Given the description of an element on the screen output the (x, y) to click on. 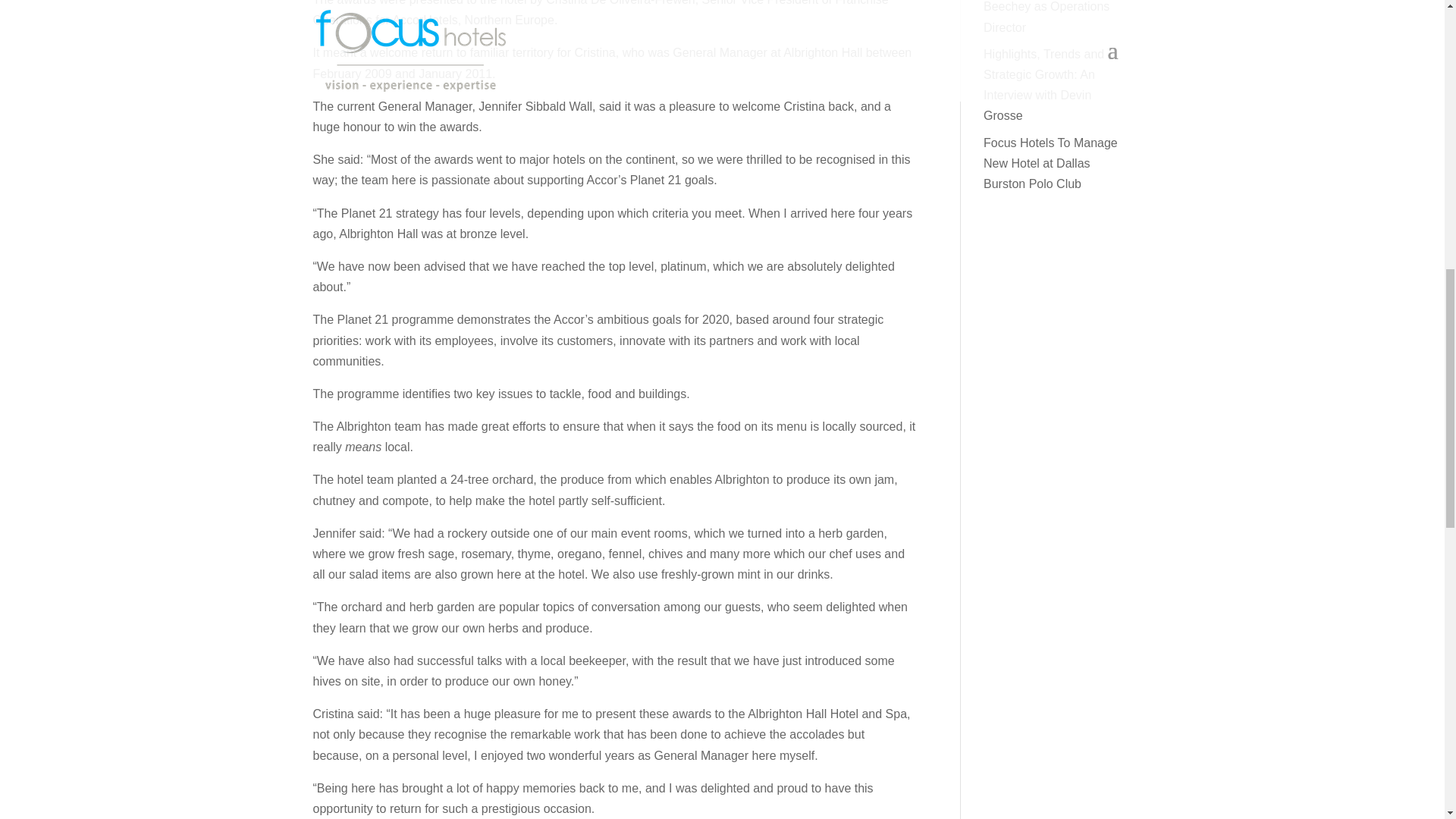
Focus Hotels To Manage New Hotel at Dallas Burston Polo Club (1051, 163)
Focus Hotels appoints Lara Beechey as Operations Director (1057, 16)
